Given the description of an element on the screen output the (x, y) to click on. 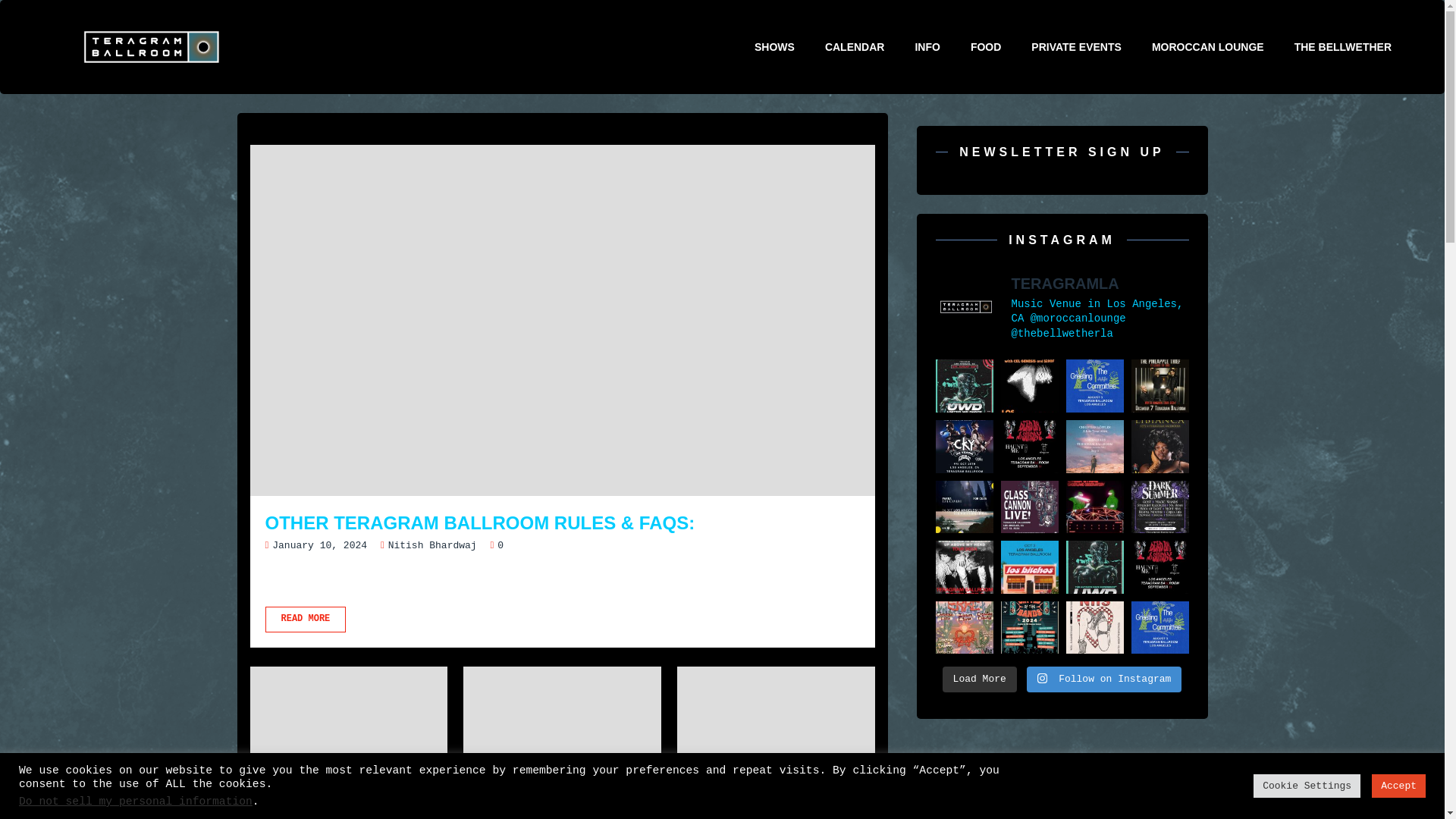
FOOD (985, 46)
INFO (927, 46)
MOROCCAN LOUNGE (1208, 46)
THE BELLWETHER (1342, 46)
PRIVATE EVENTS (1076, 46)
SHOWS (774, 46)
CALENDAR (854, 46)
